Given the description of an element on the screen output the (x, y) to click on. 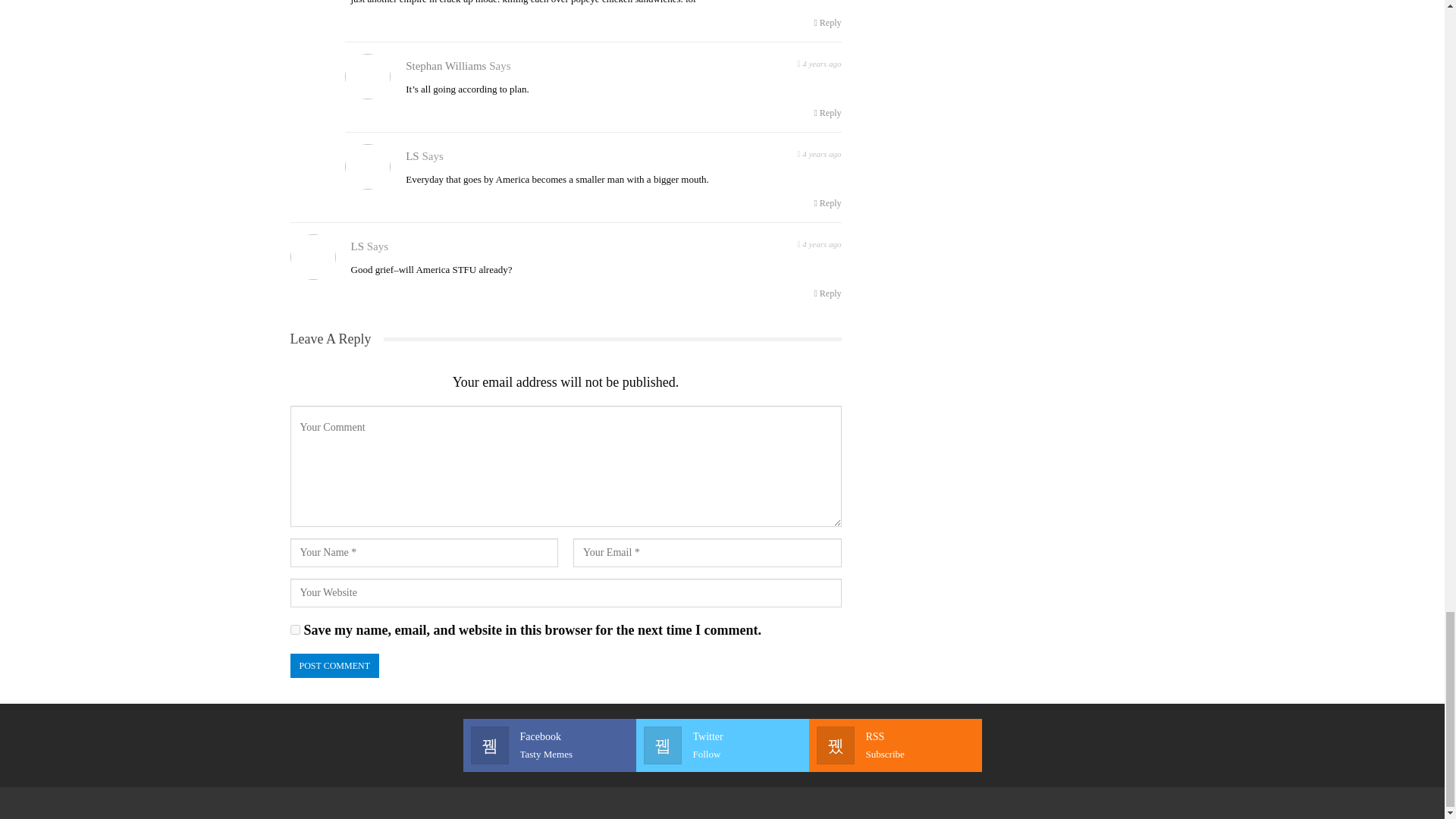
Post Comment (333, 665)
Sunday, December 27, 2020, 9:55 pm (548, 745)
Reply (818, 242)
Sunday, December 27, 2020, 10:13 pm (827, 293)
Reply (721, 745)
Reply (818, 62)
Reply (827, 112)
Sunday, December 27, 2020, 10:14 pm (827, 22)
yes (827, 202)
Post Comment (818, 152)
